Given the description of an element on the screen output the (x, y) to click on. 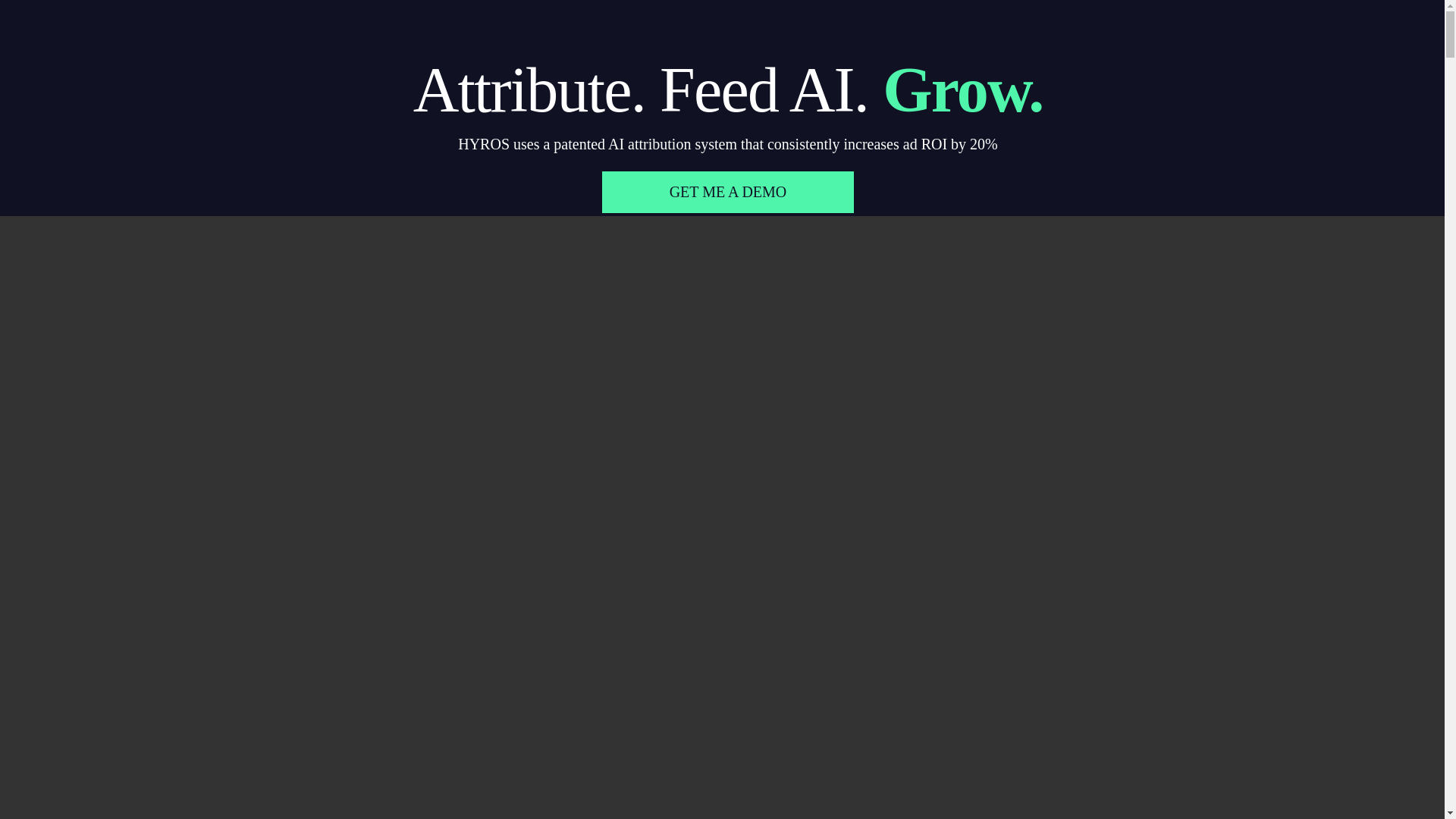
GET ME A DEMO (728, 191)
